Given the description of an element on the screen output the (x, y) to click on. 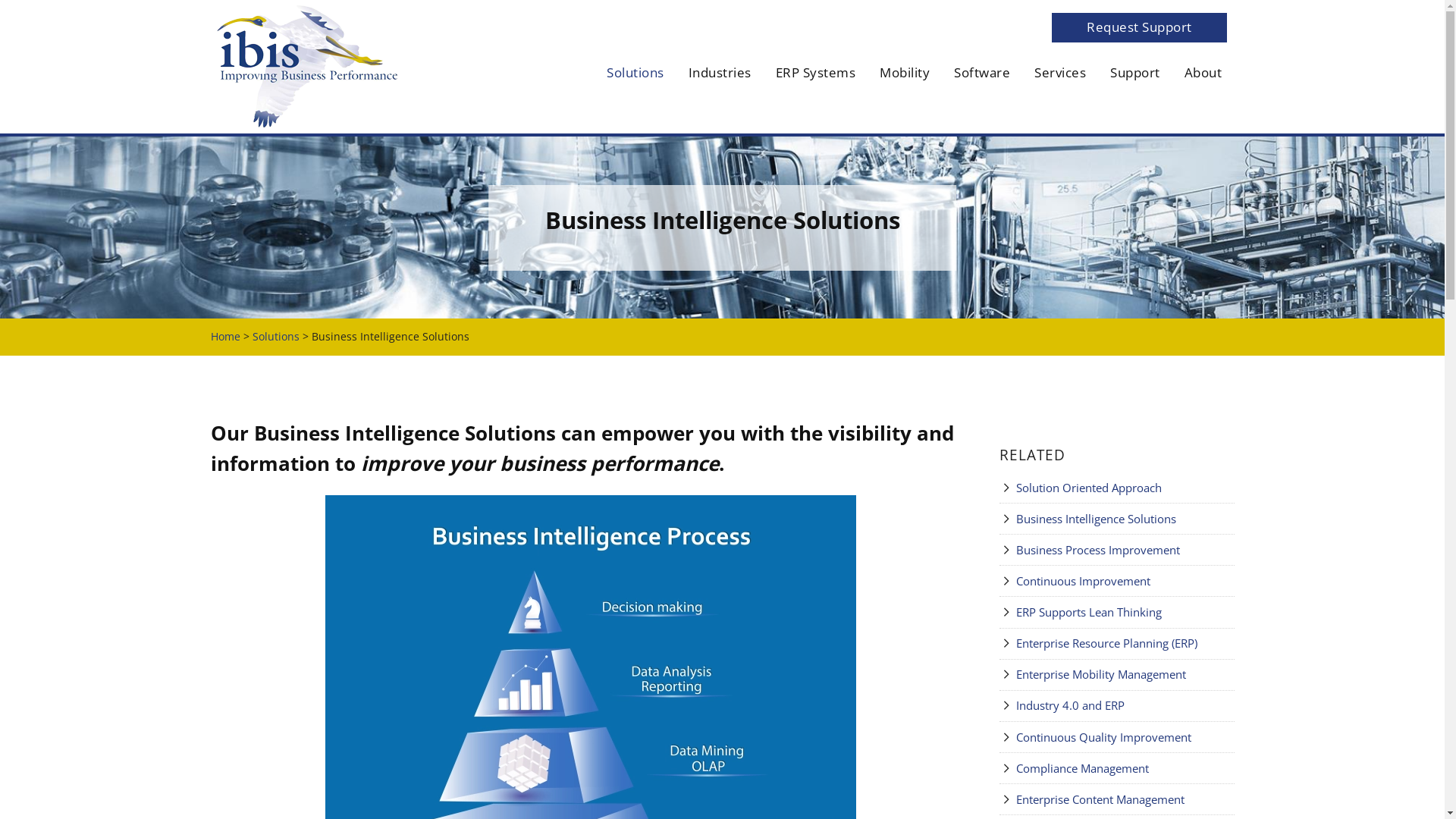
Mobility Element type: text (904, 72)
Business Process Improvement Element type: text (1125, 549)
Enterprise Resource Planning (ERP) Element type: text (1125, 643)
Solutions Element type: text (274, 336)
About Element type: text (1202, 72)
Software Element type: text (982, 72)
Business Intelligence Solutions Element type: text (1125, 518)
Solutions Element type: text (634, 72)
Solution Oriented Approach Element type: text (1125, 487)
Industries Element type: text (719, 72)
ERP Systems Element type: text (815, 72)
Industry 4.0 and ERP Element type: text (1125, 705)
Home Element type: text (225, 336)
Continuous Improvement Element type: text (1125, 581)
Compliance Management Element type: text (1125, 768)
Support Element type: text (1135, 72)
Ibis Business Intelligence Solutions Element type: hover (305, 64)
Request Support Element type: text (1139, 27)
Continuous Quality Improvement Element type: text (1125, 737)
Enterprise Mobility Management Element type: text (1125, 674)
Enterprise Content Management Element type: text (1125, 799)
Services Element type: text (1060, 72)
ERP Supports Lean Thinking Element type: text (1125, 612)
